Given the description of an element on the screen output the (x, y) to click on. 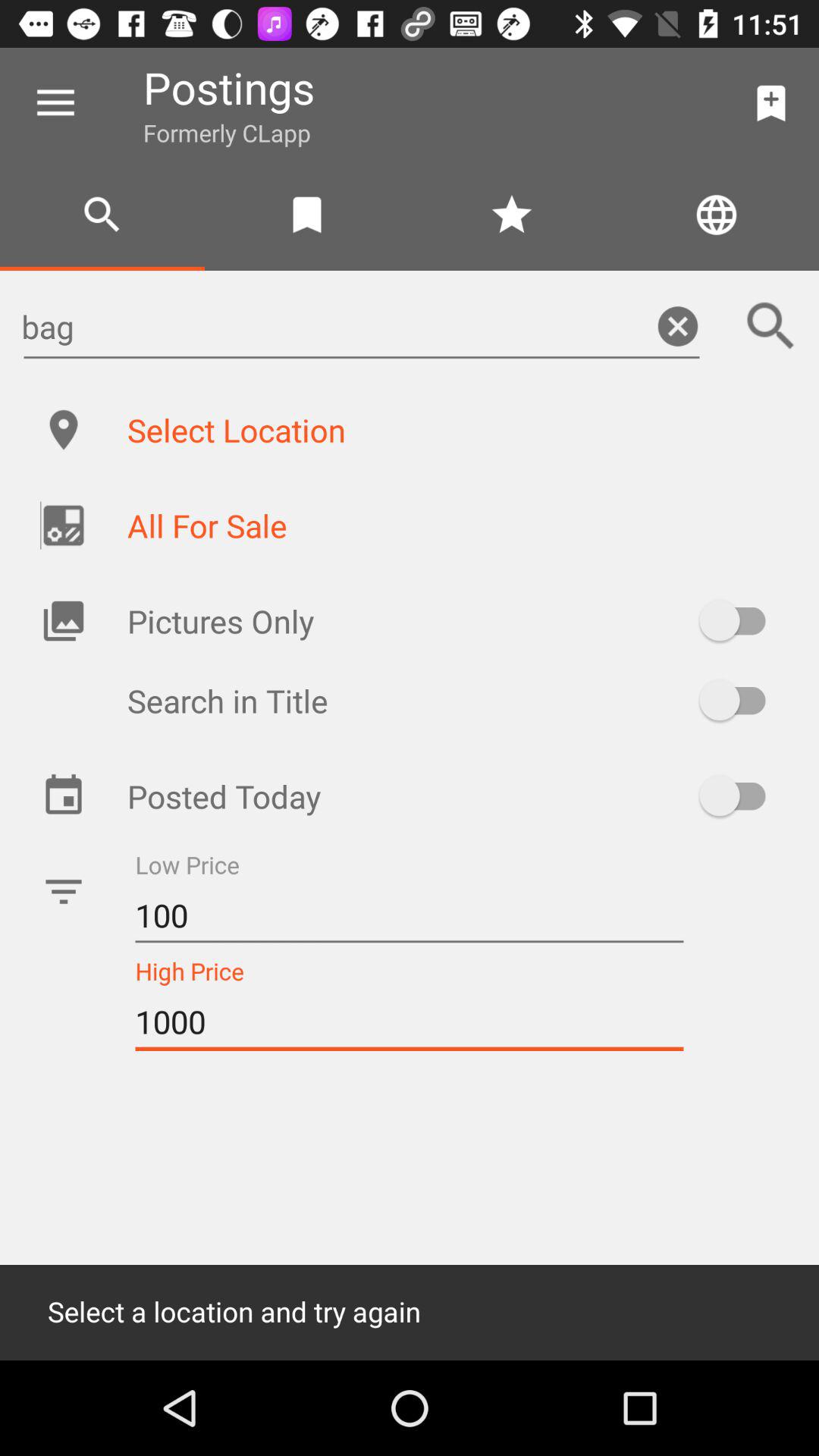
activate warning (739, 795)
